Given the description of an element on the screen output the (x, y) to click on. 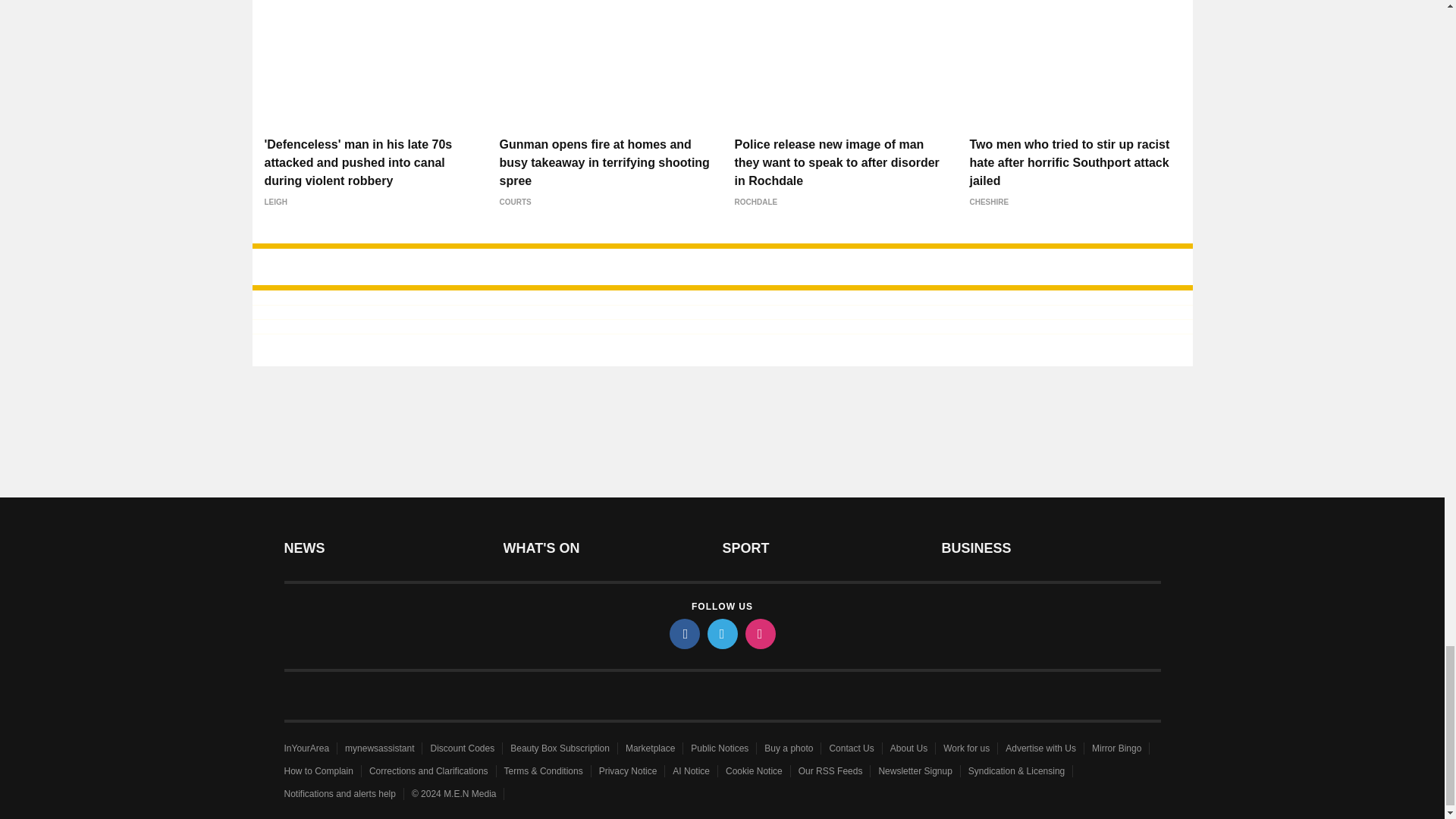
instagram (759, 634)
facebook (683, 634)
twitter (721, 634)
